Given the description of an element on the screen output the (x, y) to click on. 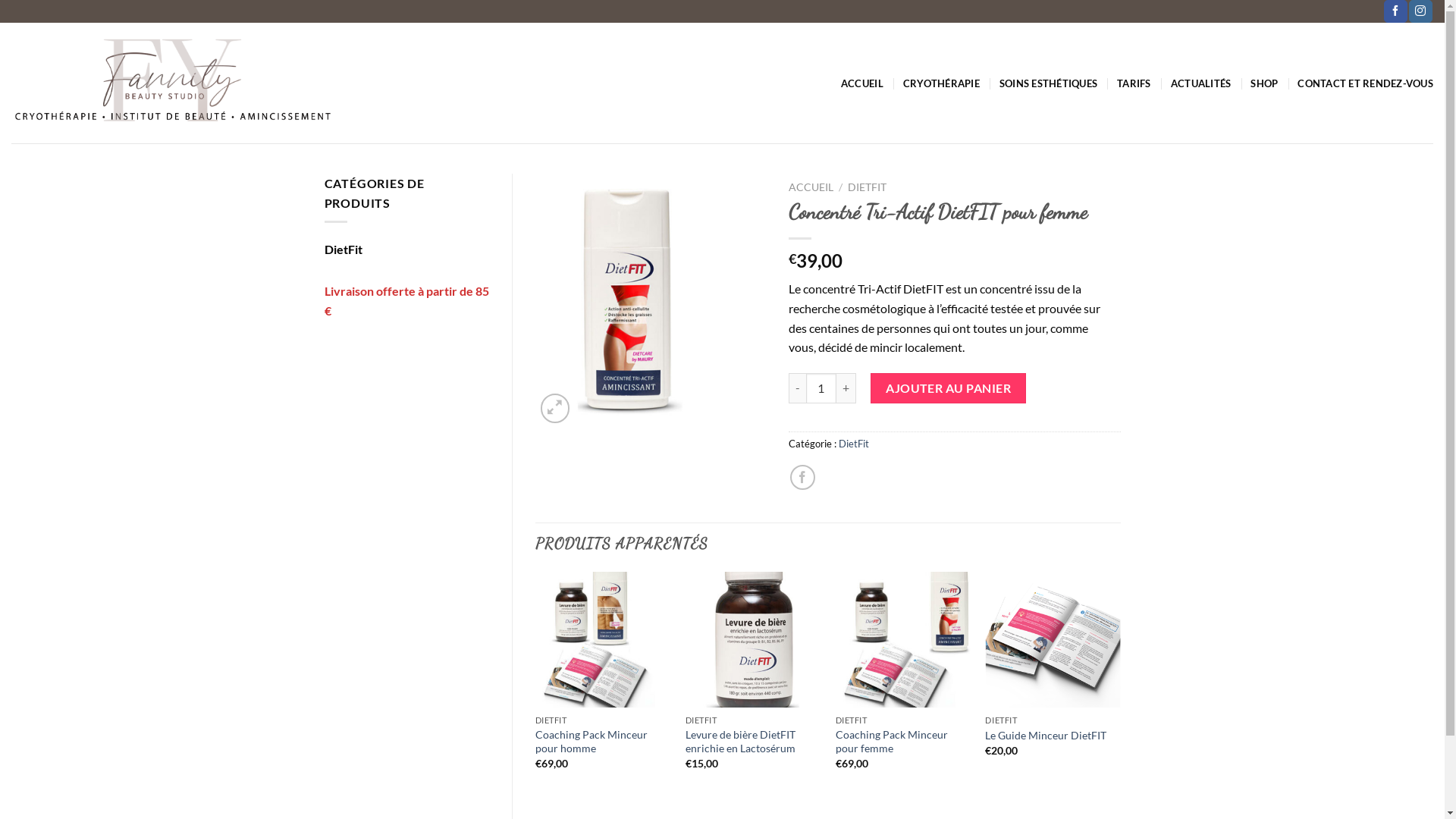
ACCUEIL Element type: text (810, 187)
SHOP Element type: text (1263, 83)
AJOUTER AU PANIER Element type: text (948, 388)
ACCUEIL Element type: text (861, 83)
DietFit Element type: text (406, 249)
DietFit Element type: text (853, 443)
DIETFIT Element type: text (866, 187)
Le Guide Minceur DietFIT Element type: text (1045, 735)
Coaching Pack Minceur pour homme Element type: text (602, 742)
Coaching Pack Minceur pour femme Element type: text (902, 742)
TARIFS Element type: text (1134, 83)
creme_femme- Element type: hover (629, 299)
CONTACT ET RENDEZ-VOUS Element type: text (1365, 83)
